Given the description of an element on the screen output the (x, y) to click on. 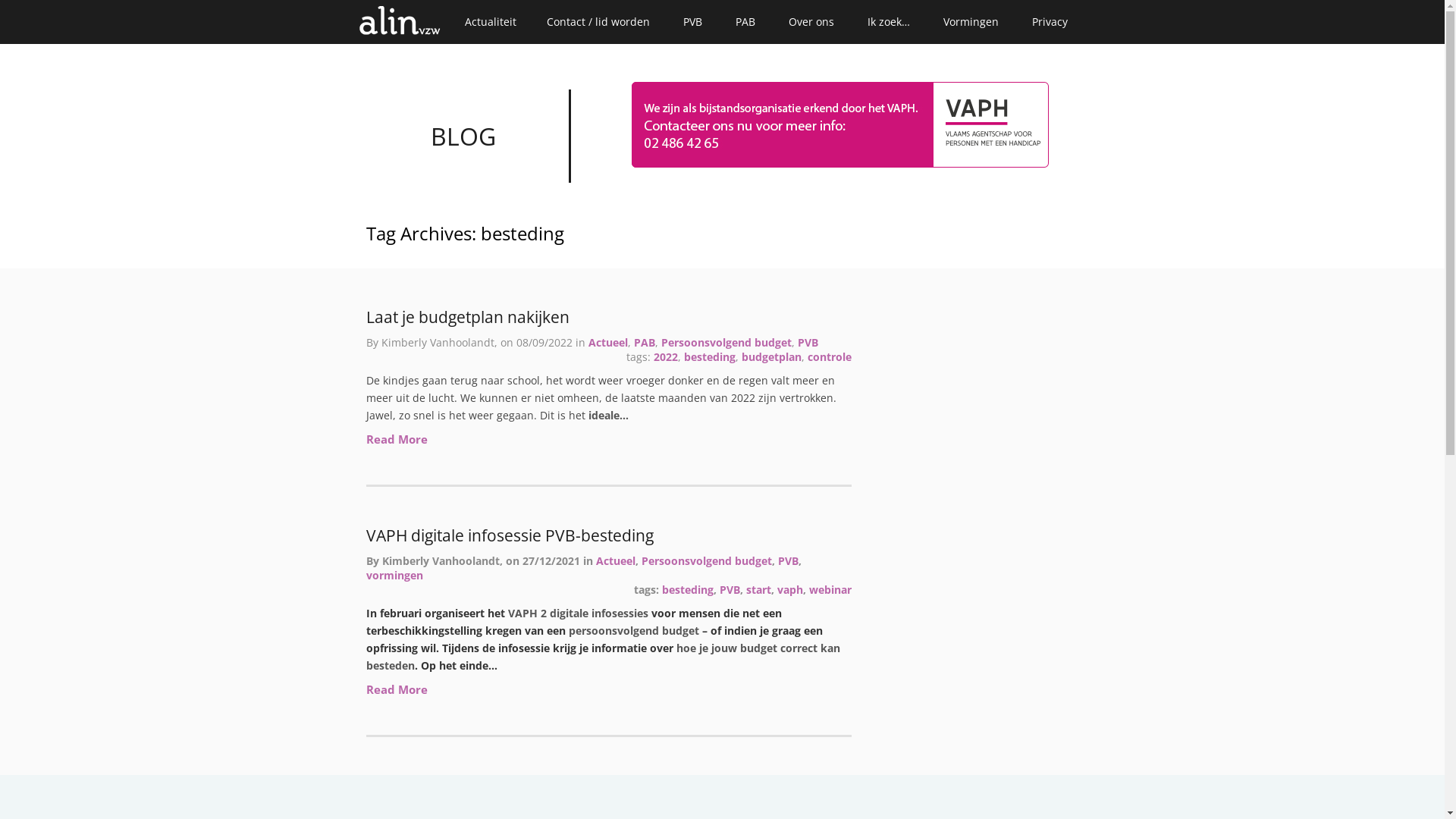
Vormingen Element type: text (970, 21)
PVB Element type: text (807, 342)
PAB Element type: text (644, 342)
VAPH digitale infosessie PVB-besteding Element type: text (607, 535)
Privacy Element type: text (1049, 21)
controle Element type: text (828, 356)
besteding Element type: text (709, 356)
PVB Element type: text (788, 560)
budgetplan Element type: text (771, 356)
2022 Element type: text (665, 356)
Contact / lid worden Element type: text (597, 21)
start Element type: text (758, 589)
besteding Element type: text (686, 589)
Over ons Element type: text (811, 21)
Actueel Element type: text (607, 342)
Persoonsvolgend budget Element type: text (726, 342)
PAB Element type: text (745, 21)
webinar Element type: text (829, 589)
PVB Element type: text (691, 21)
Read More Element type: text (395, 438)
PVB Element type: text (728, 589)
Actualiteit Element type: text (489, 21)
Persoonsvolgend budget Element type: text (706, 560)
Laat je budgetplan nakijken Element type: text (607, 316)
Read More Element type: text (395, 688)
vormingen Element type: text (393, 574)
vaph Element type: text (789, 589)
Actueel Element type: text (615, 560)
